Given the description of an element on the screen output the (x, y) to click on. 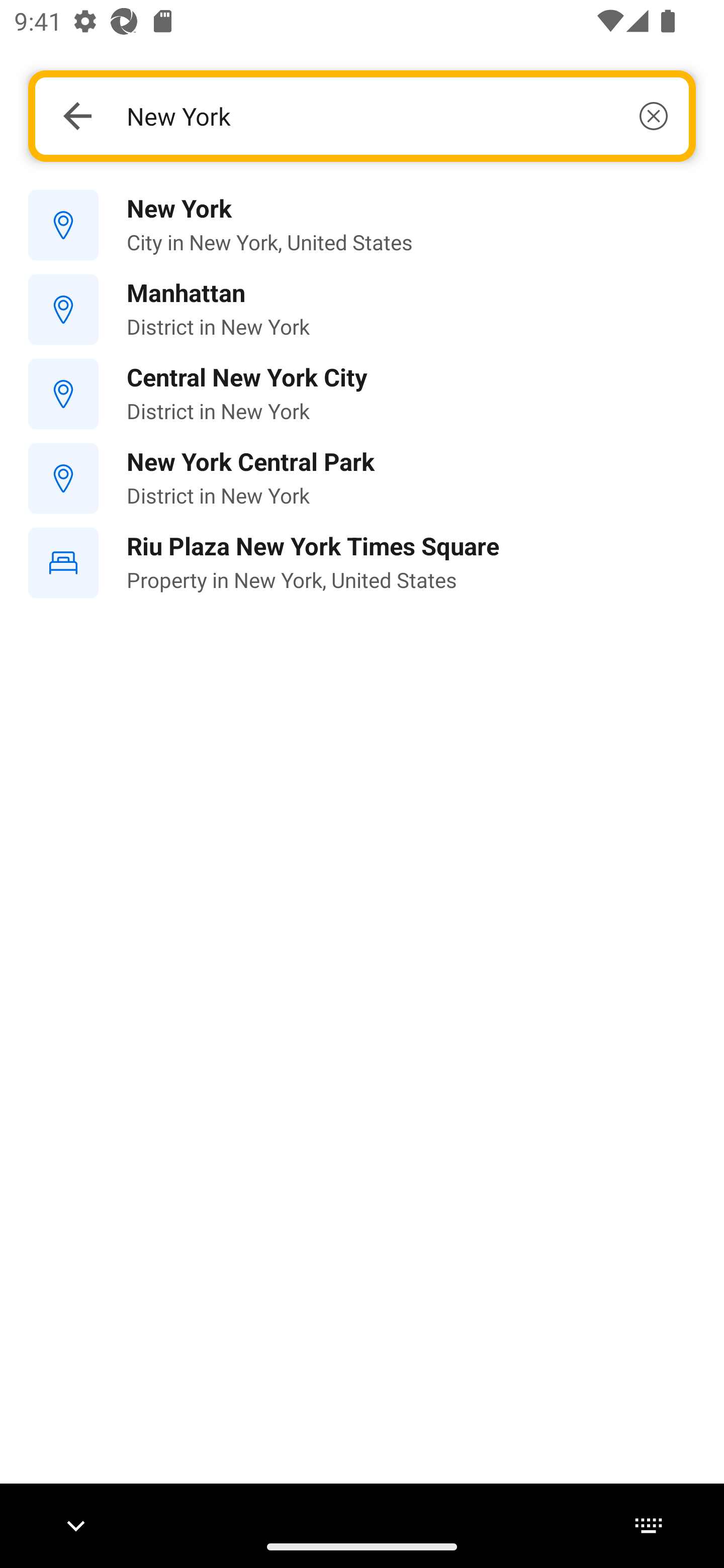
New York (396, 115)
New York City in New York, United States (362, 225)
Manhattan District in New York (362, 309)
Central New York City District in New York (362, 393)
New York Central Park District in New York (362, 477)
